Given the description of an element on the screen output the (x, y) to click on. 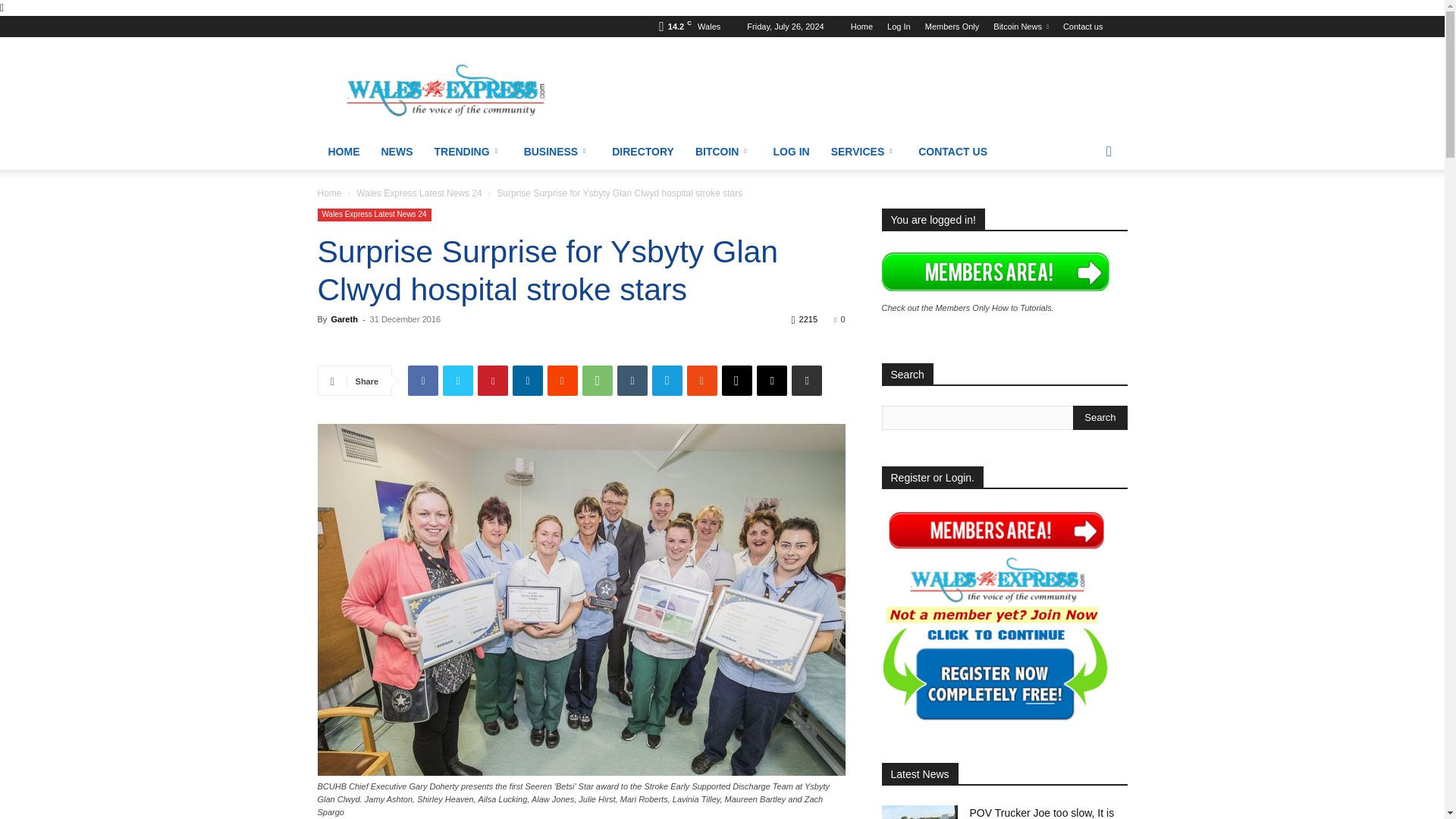
Search (1099, 417)
